Given the description of an element on the screen output the (x, y) to click on. 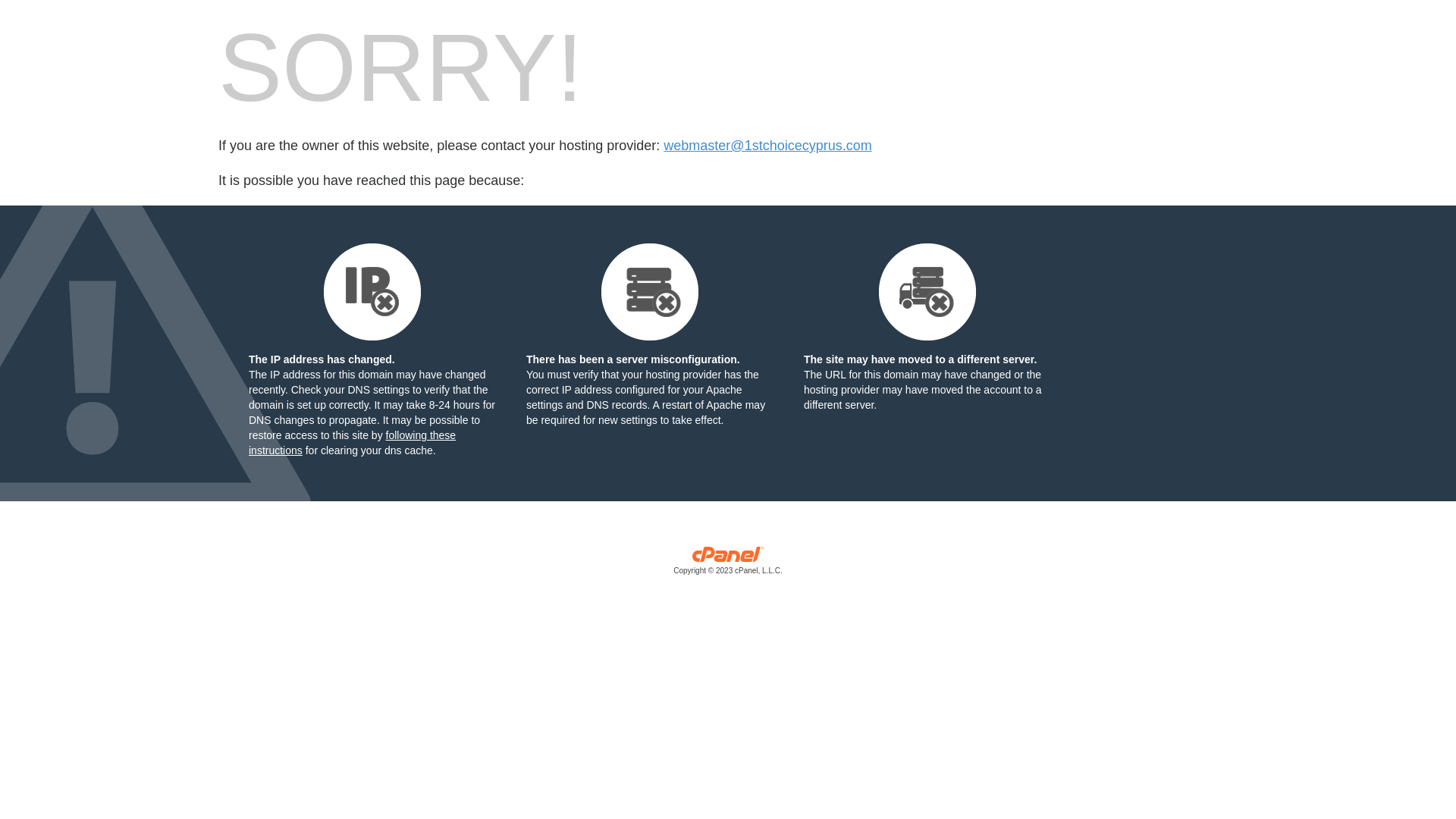
webmaster@1stchoicecyprus.com Element type: text (767, 145)
following these instructions Element type: text (351, 442)
